Given the description of an element on the screen output the (x, y) to click on. 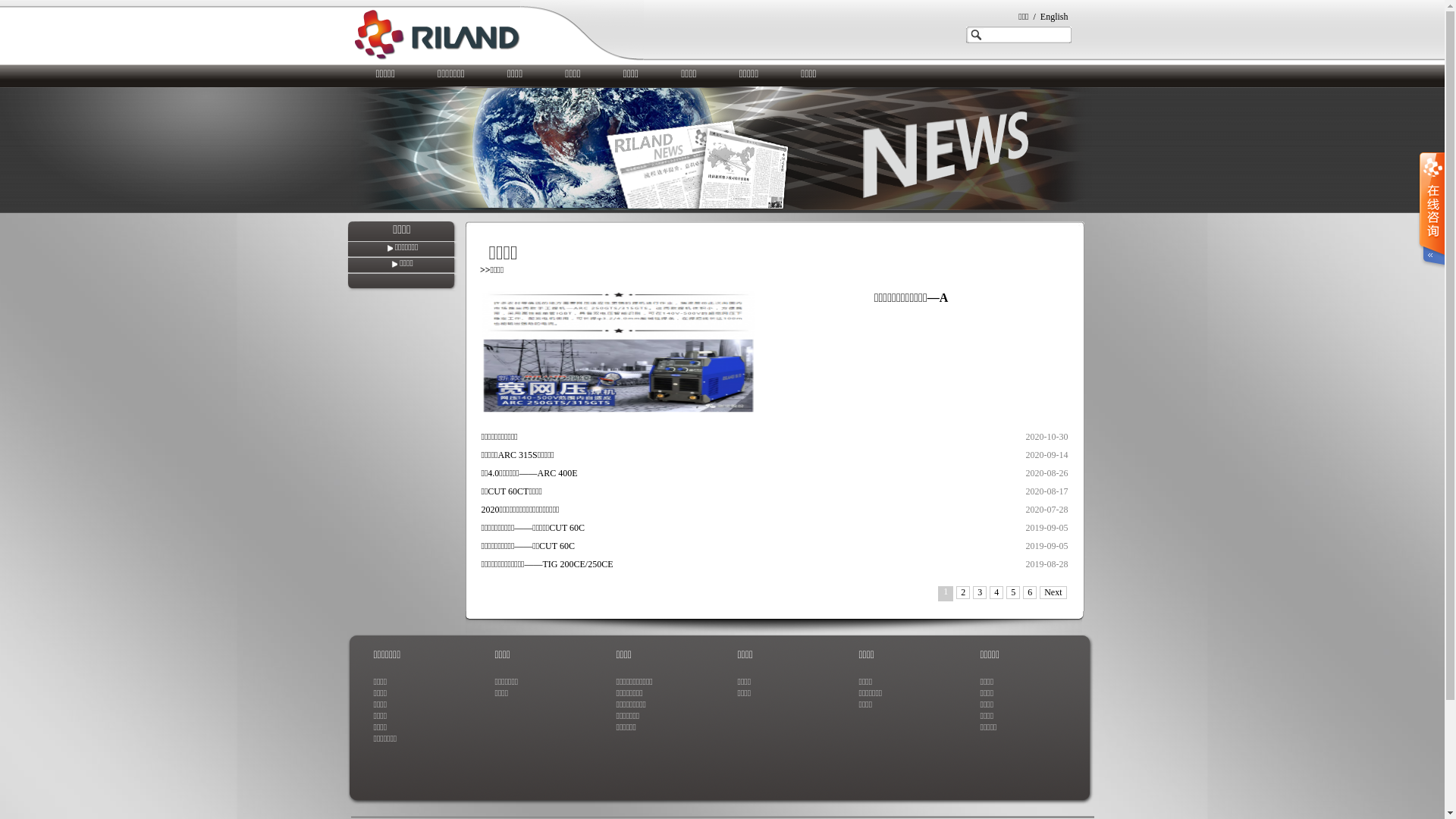
English Element type: text (1054, 16)
  Element type: text (1430, 210)
3 Element type: text (979, 592)
5 Element type: text (1012, 592)
2 Element type: text (962, 592)
4 Element type: text (996, 592)
6 Element type: text (1029, 592)
Next Element type: text (1052, 592)
